Given the description of an element on the screen output the (x, y) to click on. 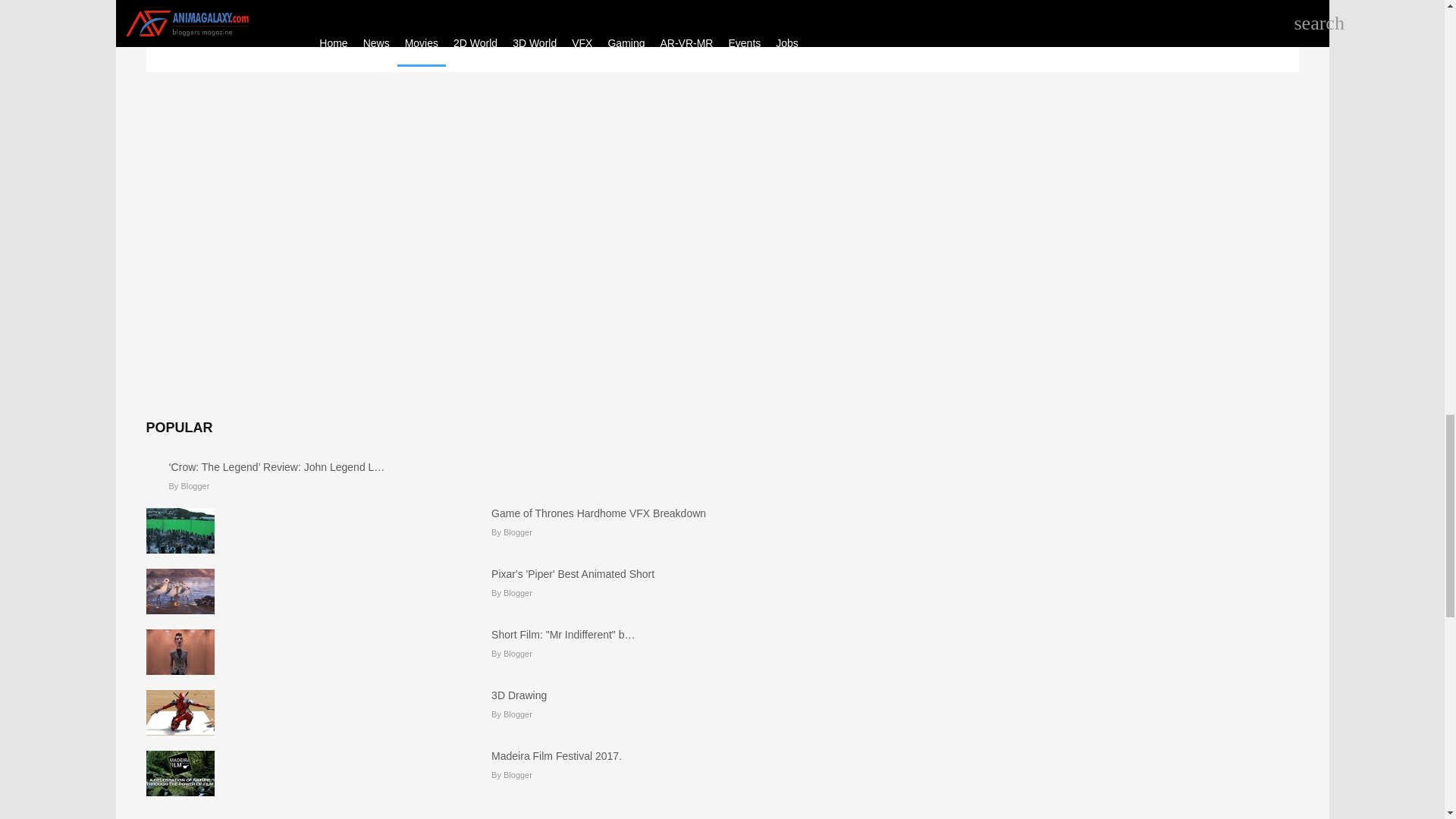
3D Drawing (519, 695)
Pixar's 'Piper' Best Animated Short (572, 573)
Pixar's 'Piper' Best Animated Short (572, 573)
Submit comment (268, 2)
Game of Thrones Hardhome VFX Breakdown (599, 512)
Madeira Film Festival 2017. (556, 756)
Short Film: "Mr Indifferent" by Aryasb Feiz (563, 634)
Submit comment (268, 2)
Game of Thrones Hardhome VFX Breakdown (599, 512)
